Given the description of an element on the screen output the (x, y) to click on. 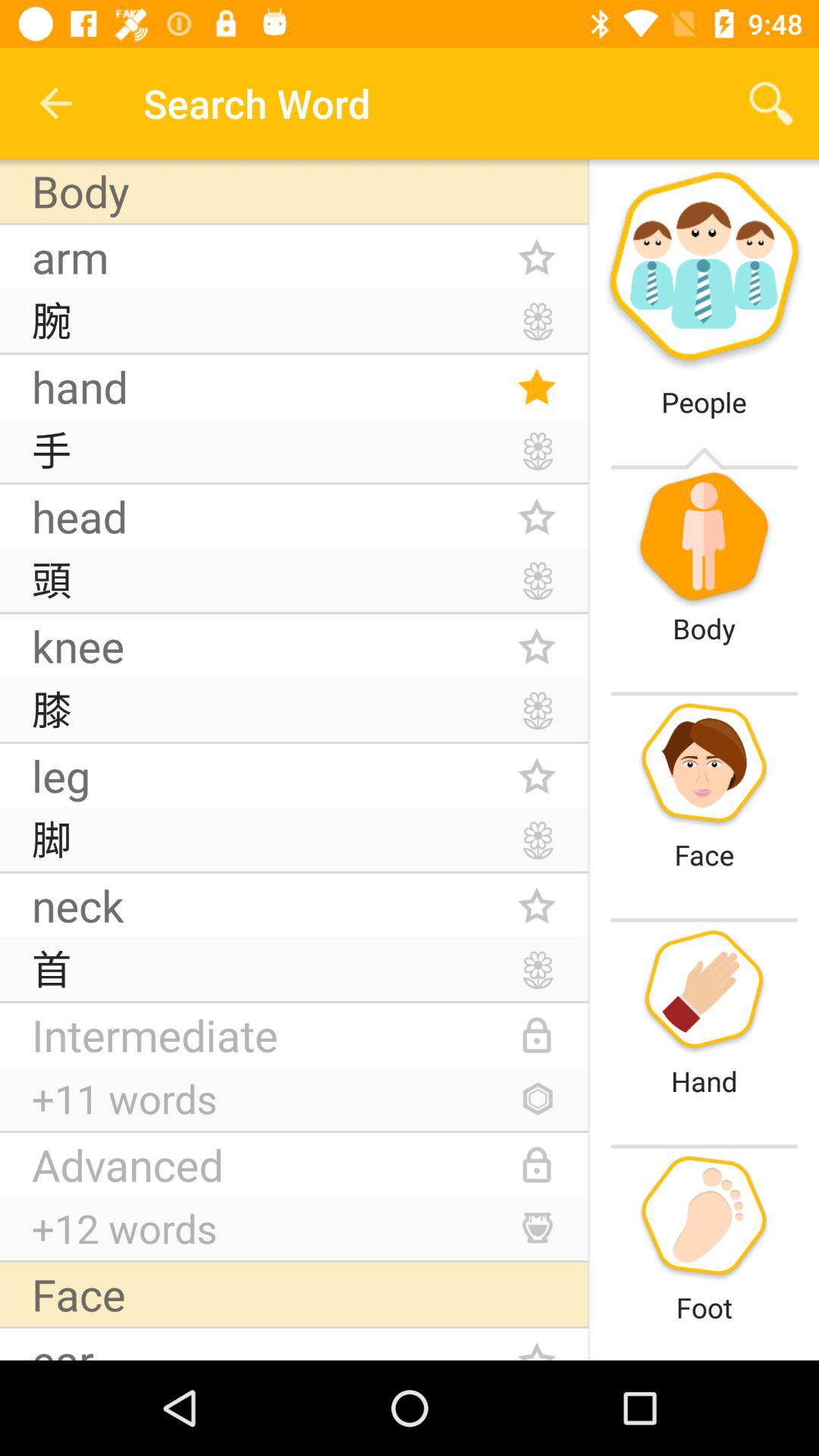
open the icon above body icon (55, 103)
